Given the description of an element on the screen output the (x, y) to click on. 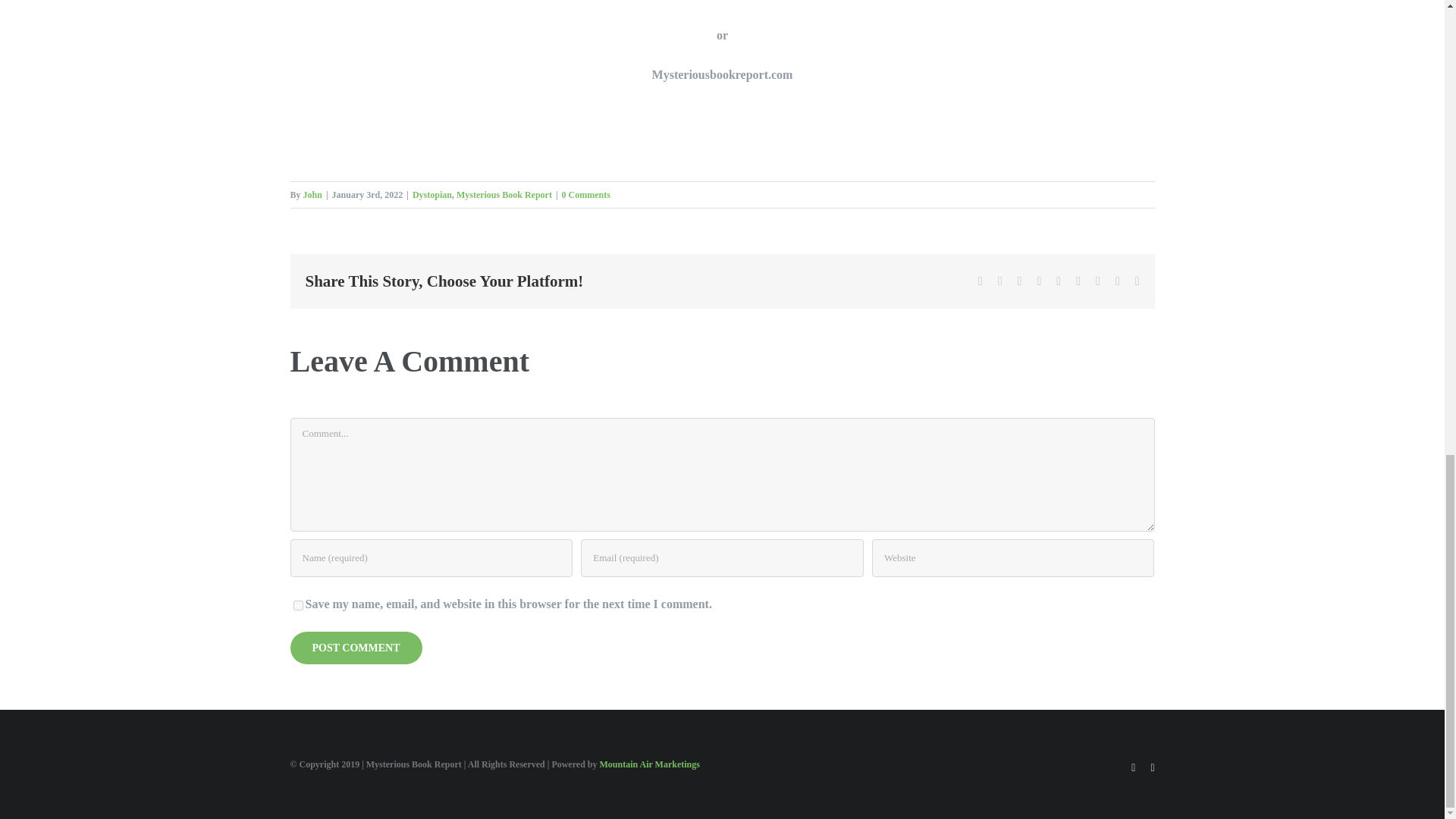
Dystopian (431, 194)
Post Comment (355, 647)
John (311, 194)
Posts by John (311, 194)
Mysterious Book Report (504, 194)
Mountain Air Marketings (648, 764)
Post Comment (355, 647)
yes (297, 605)
0 Comments (586, 194)
